Given the description of an element on the screen output the (x, y) to click on. 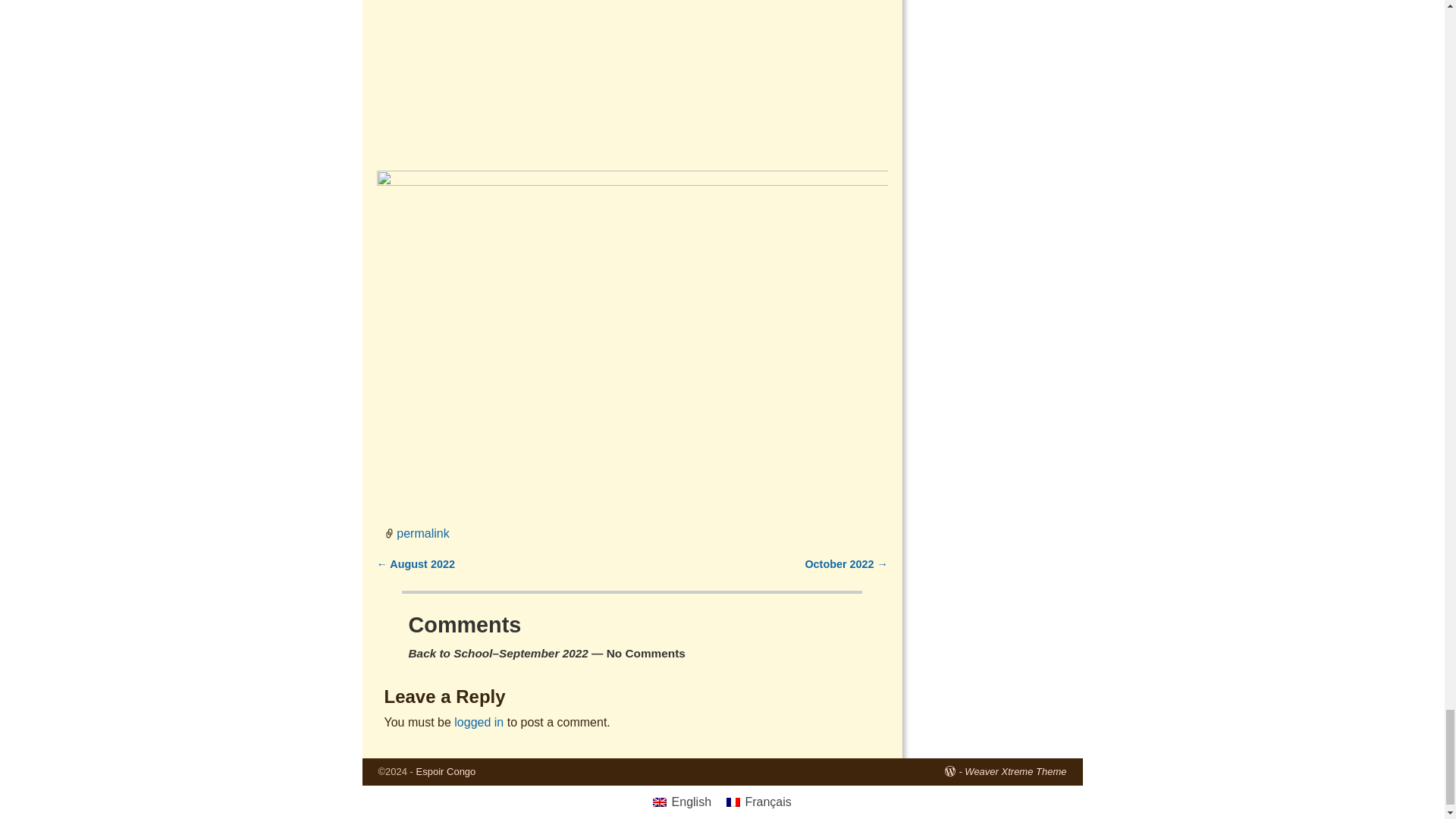
Proudly powered by WordPress (954, 771)
permalink (422, 532)
Espoir Congo (446, 771)
logged in (478, 721)
Weaver Xtreme Theme (1014, 771)
